Given the description of an element on the screen output the (x, y) to click on. 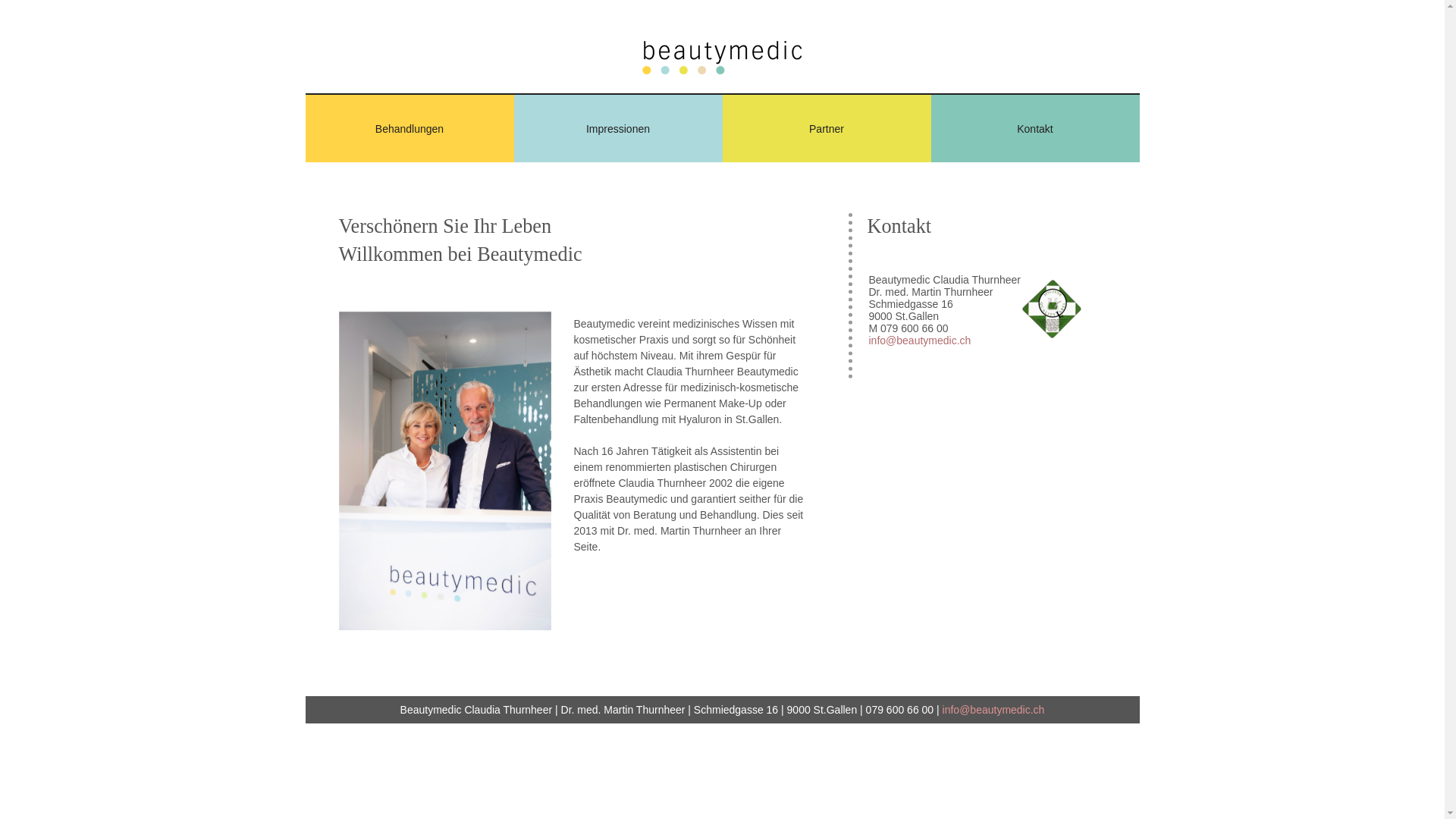
info@beautymedic.ch Element type: text (920, 340)
Impressionen Element type: text (618, 128)
Behandlungen Element type: text (408, 128)
Kontakt Element type: text (1035, 128)
Partner Element type: text (825, 128)
qualitaetslabel.png Element type: hover (1051, 308)
info@beautymedic.ch Element type: text (993, 709)
